Given the description of an element on the screen output the (x, y) to click on. 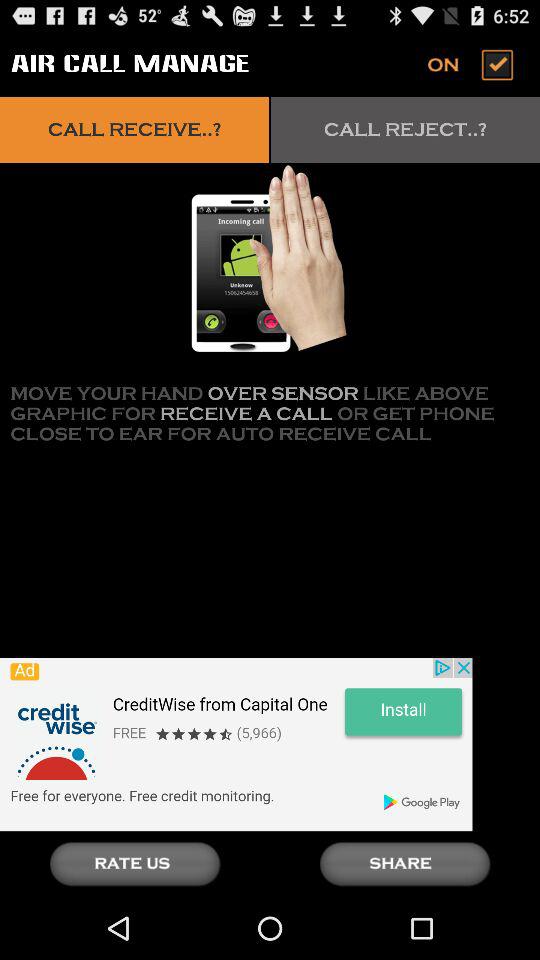
rate us (135, 863)
